Given the description of an element on the screen output the (x, y) to click on. 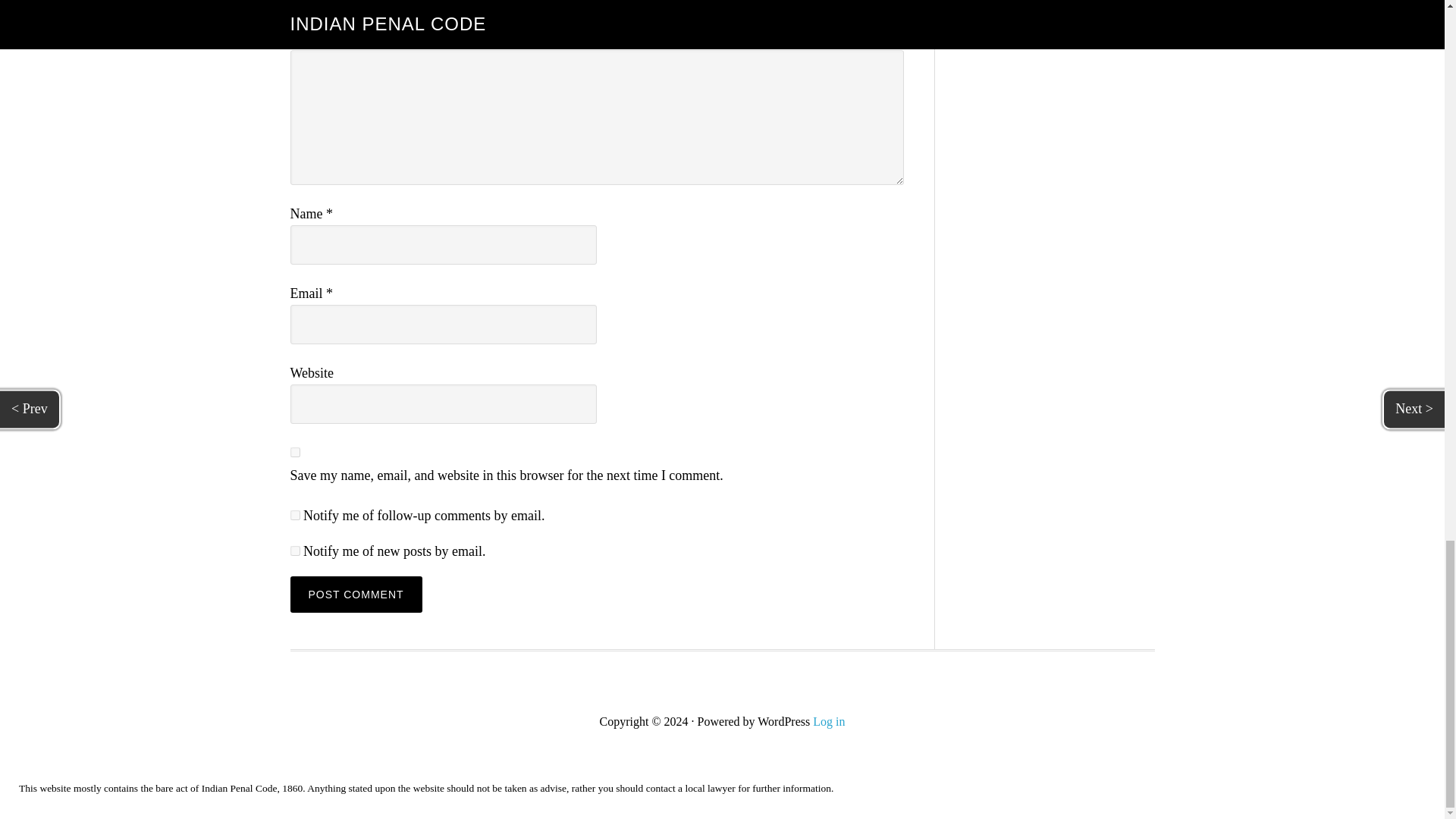
Post Comment (355, 594)
yes (294, 452)
Post Comment (355, 594)
Log in (828, 721)
subscribe (294, 515)
subscribe (294, 551)
